Given the description of an element on the screen output the (x, y) to click on. 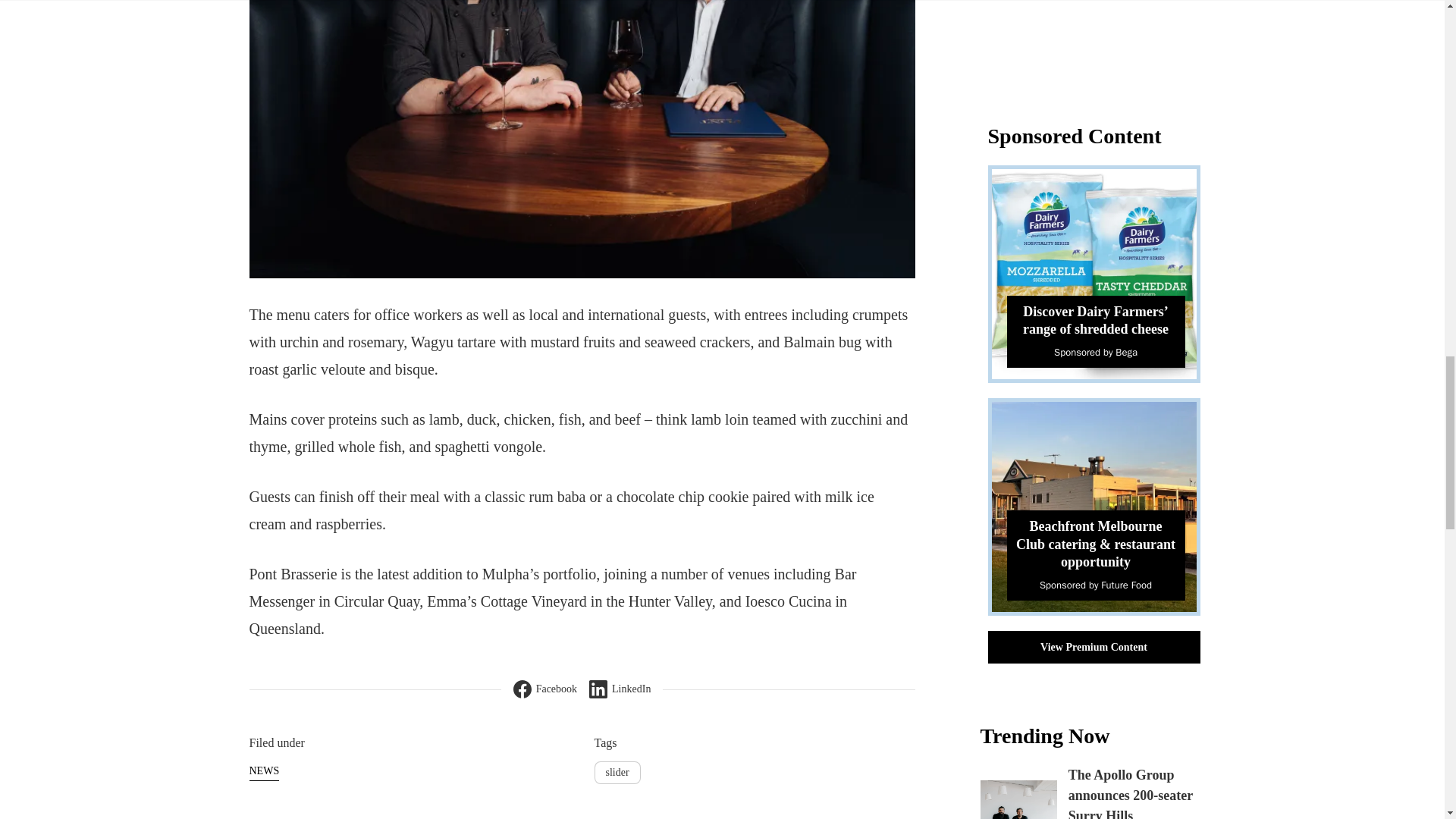
View Premium Content (1093, 646)
The Apollo Group announces 200-seater Surry Hills restaurant (1018, 799)
slider (617, 772)
3rd party ad content (1100, 43)
Facebook (544, 689)
The Apollo Group announces 200-seater Surry Hills restaurant (1130, 793)
LinkedIn (619, 689)
NEWS (263, 771)
